Given the description of an element on the screen output the (x, y) to click on. 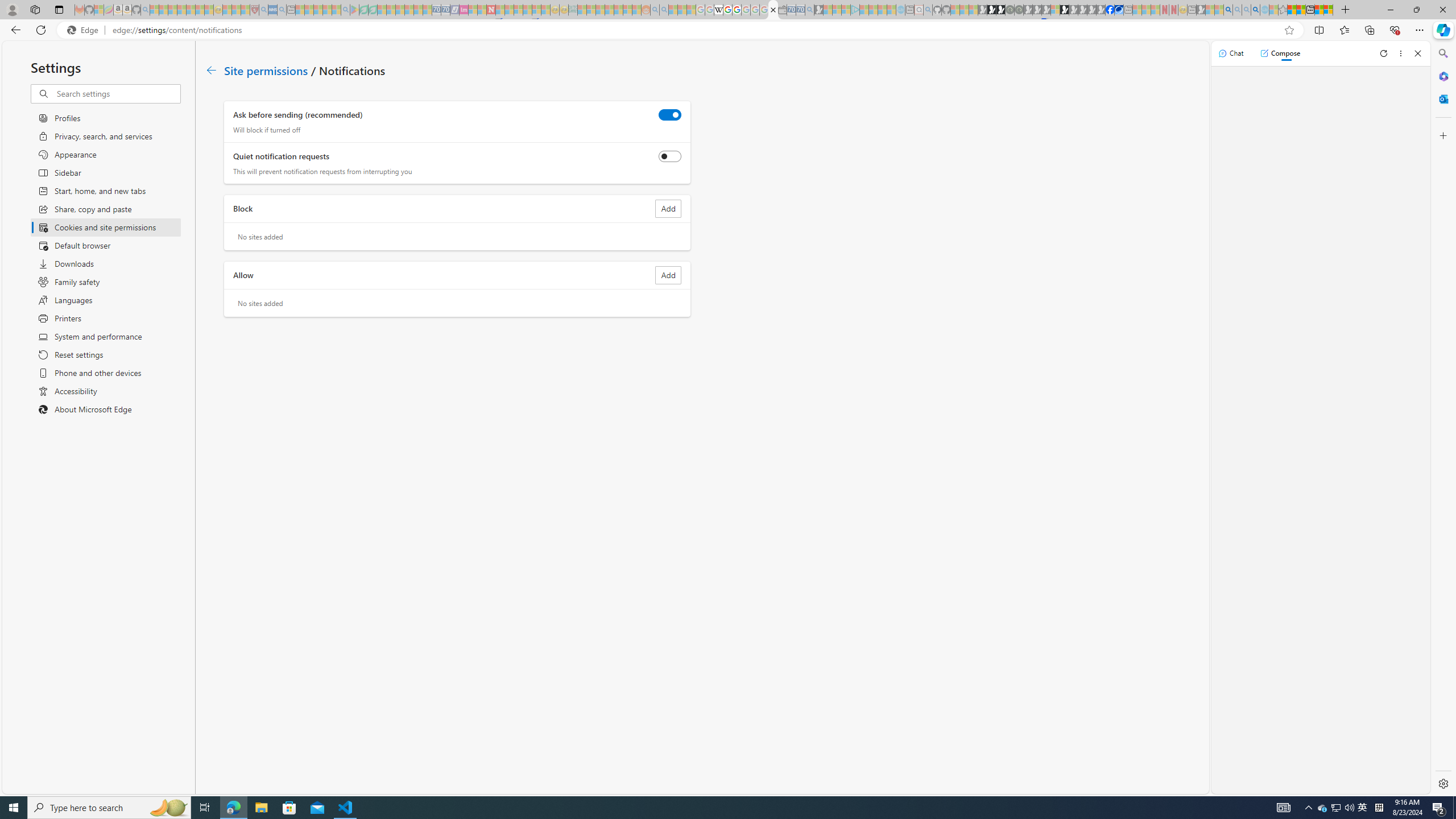
14 Common Myths Debunked By Scientific Facts - Sleeping (508, 9)
Aberdeen, Hong Kong SAR weather forecast | Microsoft Weather (1300, 9)
google - Search - Sleeping (345, 9)
Trusted Community Engagement and Contributions | Guidelines (499, 9)
Robert H. Shmerling, MD - Harvard Health - Sleeping (253, 9)
